Given the description of an element on the screen output the (x, y) to click on. 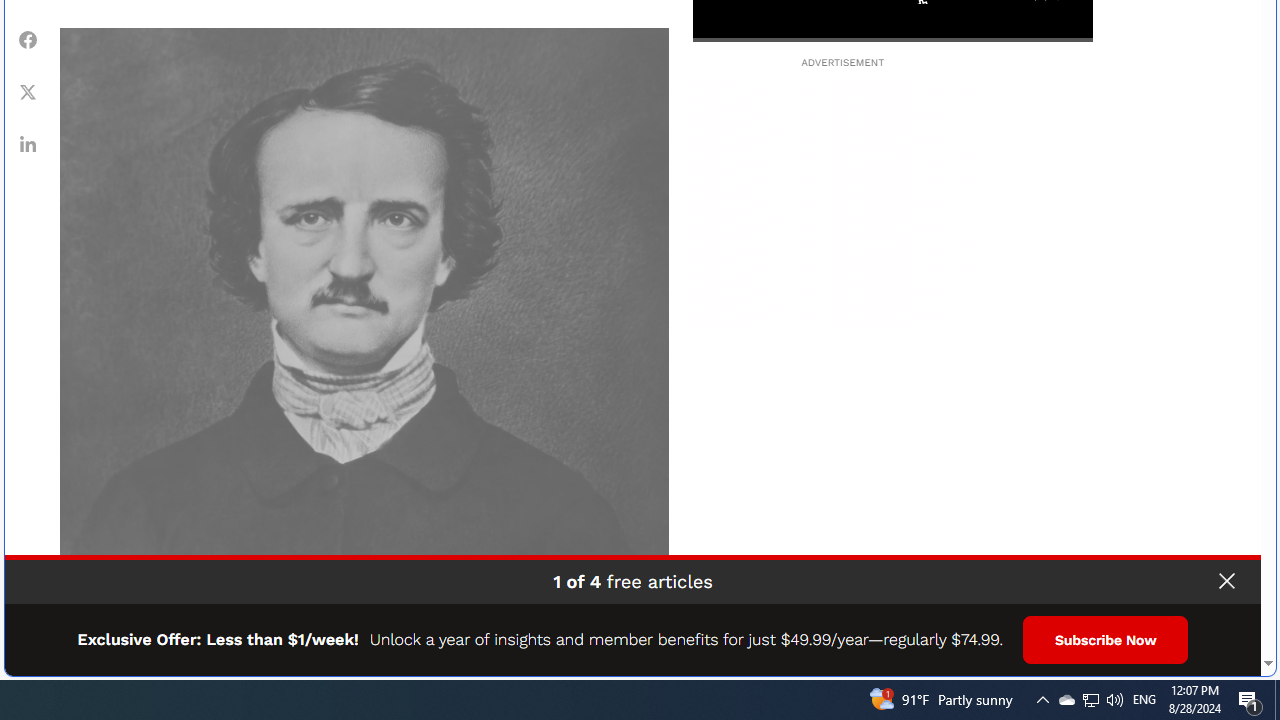
Privacy (1209, 653)
Class: fs-icon fs-icon--xCorp (28, 91)
Seek (892, 38)
Tray Input Indicator - English (United States) (1144, 699)
Q2790: 100% (1114, 699)
Portrait of Edgar Allan Poe. (364, 332)
Class: fs-icon fs-icon--Facebook (27, 39)
Share Facebook (1066, 699)
Class: article-sharing__item (28, 39)
Terms (28, 143)
Share Twitter (1242, 653)
Class: close-button unbutton (28, 91)
Subscribe Now (1226, 581)
